Given the description of an element on the screen output the (x, y) to click on. 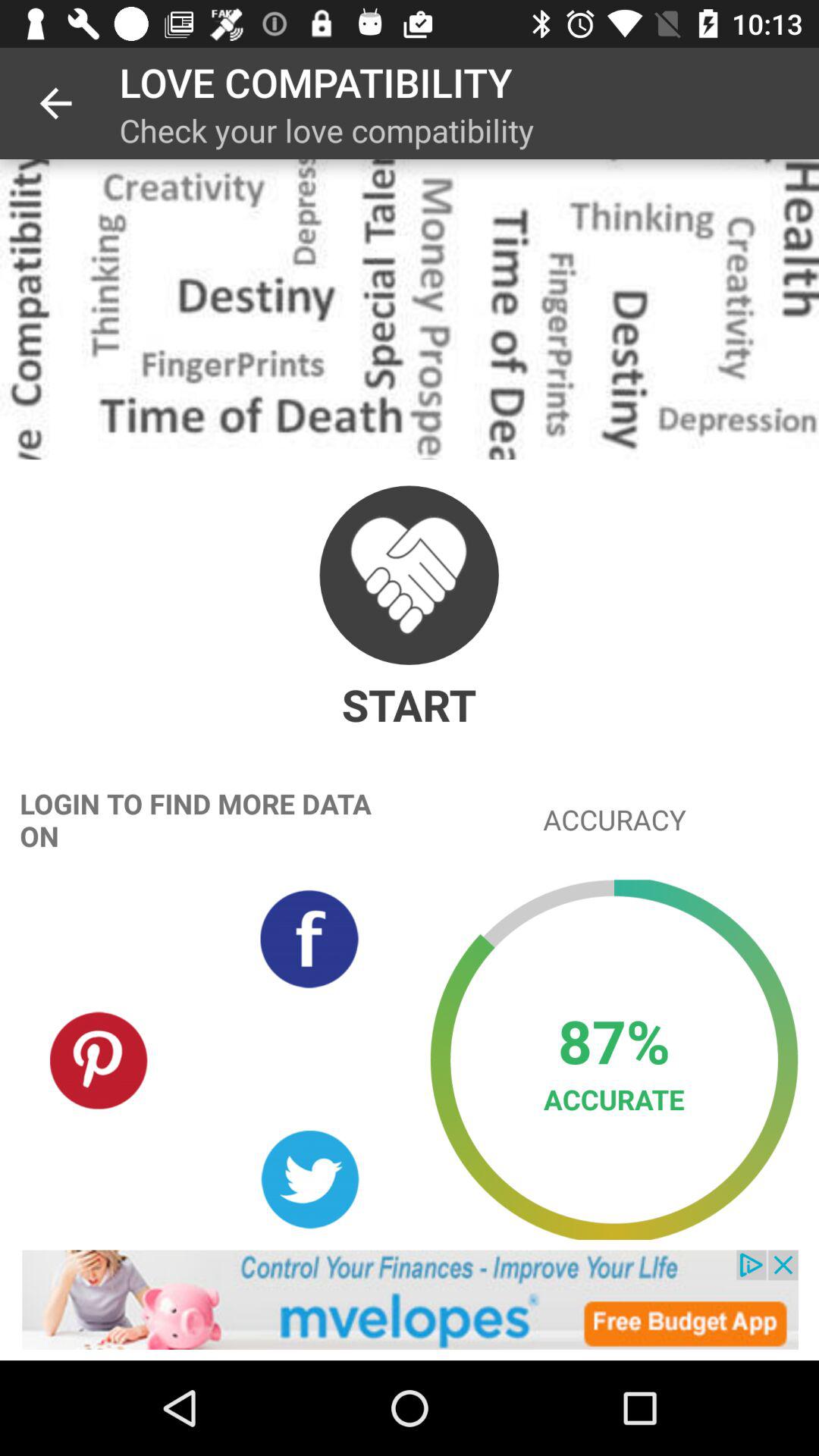
start (408, 574)
